Given the description of an element on the screen output the (x, y) to click on. 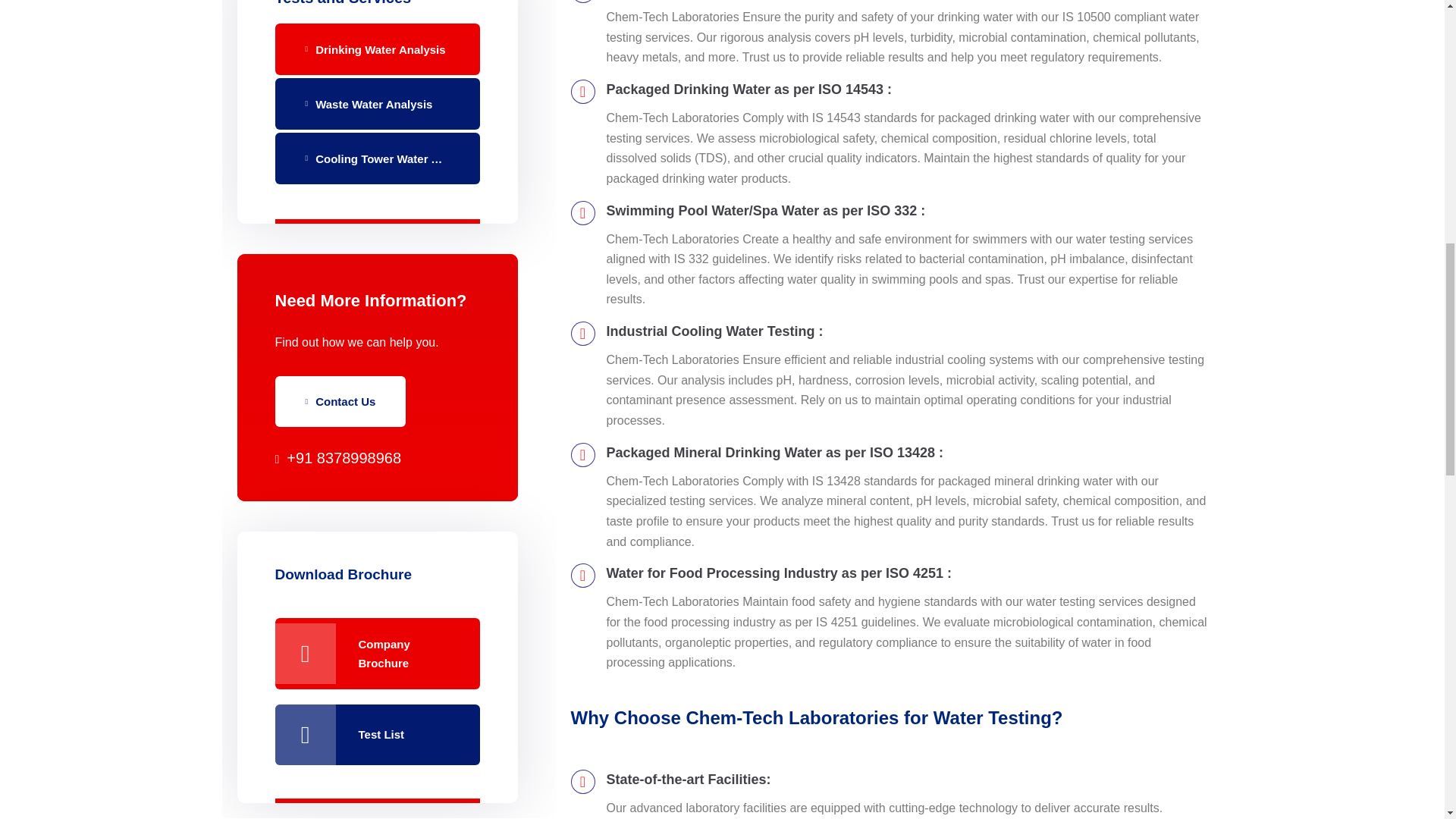
chemlabs-38 (377, 393)
